Given the description of an element on the screen output the (x, y) to click on. 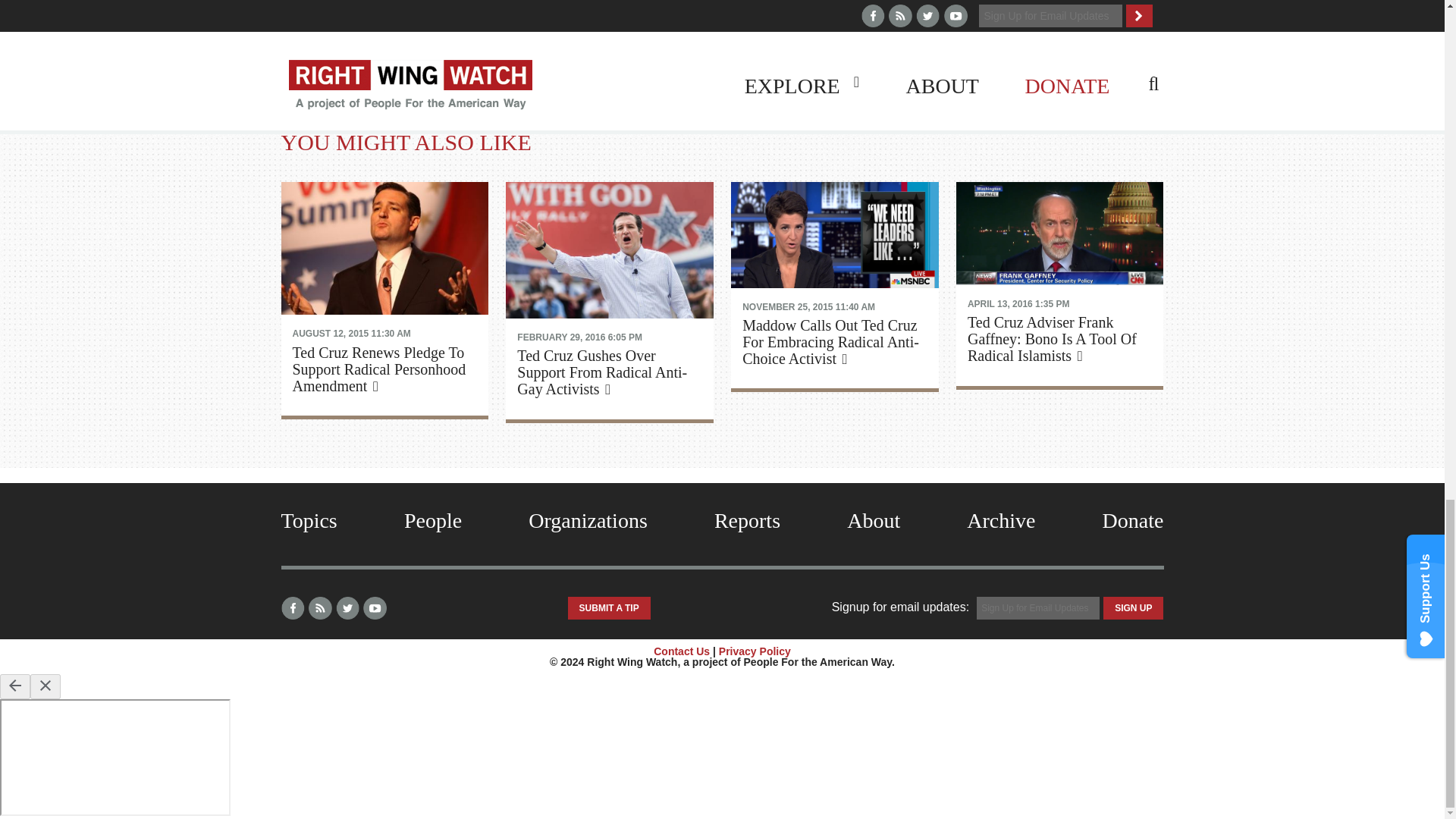
Ted Cruz (475, 51)
Organizations (587, 520)
Ted Cruz Gushes Over Support From Radical Anti-Gay Activists (609, 251)
Election 2016 (612, 51)
Ted Cruz Gushes Over Support From Radical Anti-Gay Activists (609, 364)
personhood (687, 51)
Reproductive Health (777, 51)
Sign Up (1133, 608)
People (432, 520)
